Given the description of an element on the screen output the (x, y) to click on. 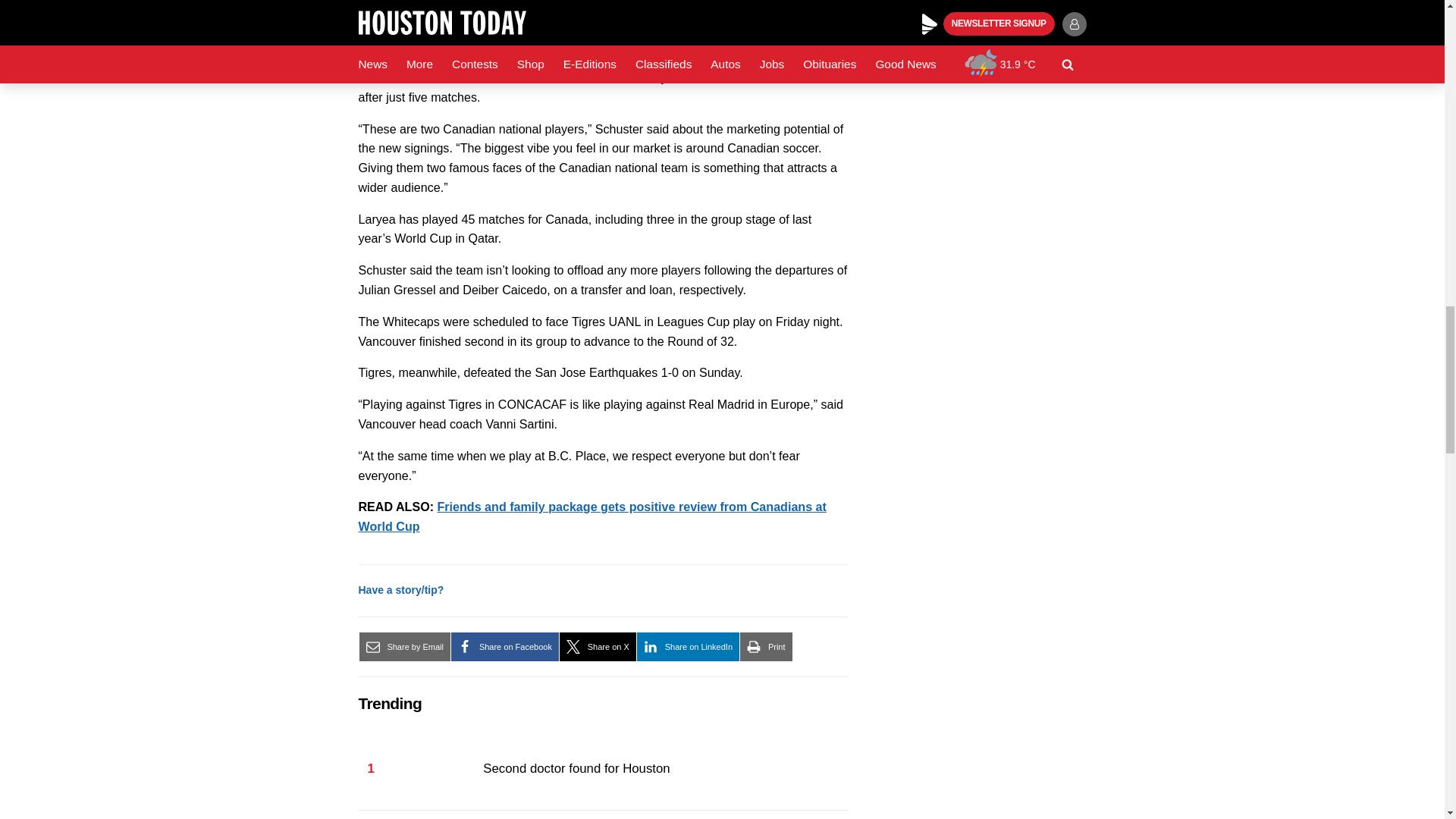
related story (591, 516)
